Given the description of an element on the screen output the (x, y) to click on. 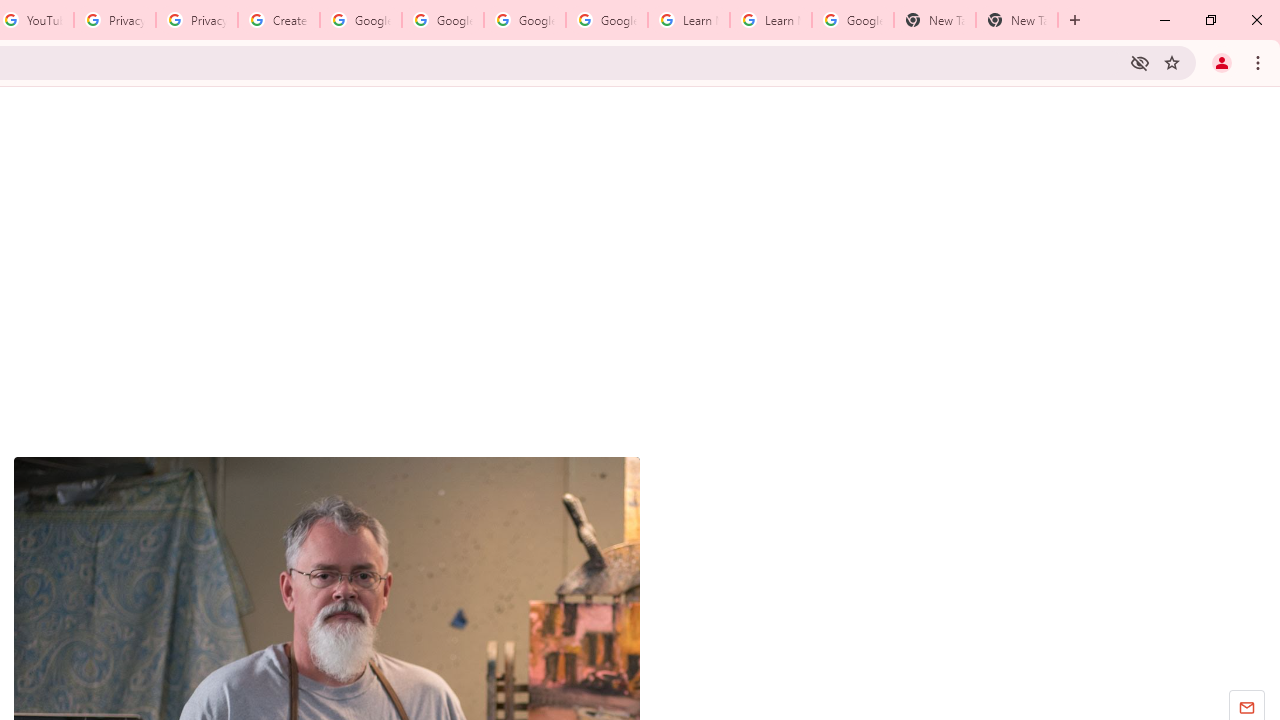
Google Account Help (442, 20)
Google Account Help (524, 20)
